Given the description of an element on the screen output the (x, y) to click on. 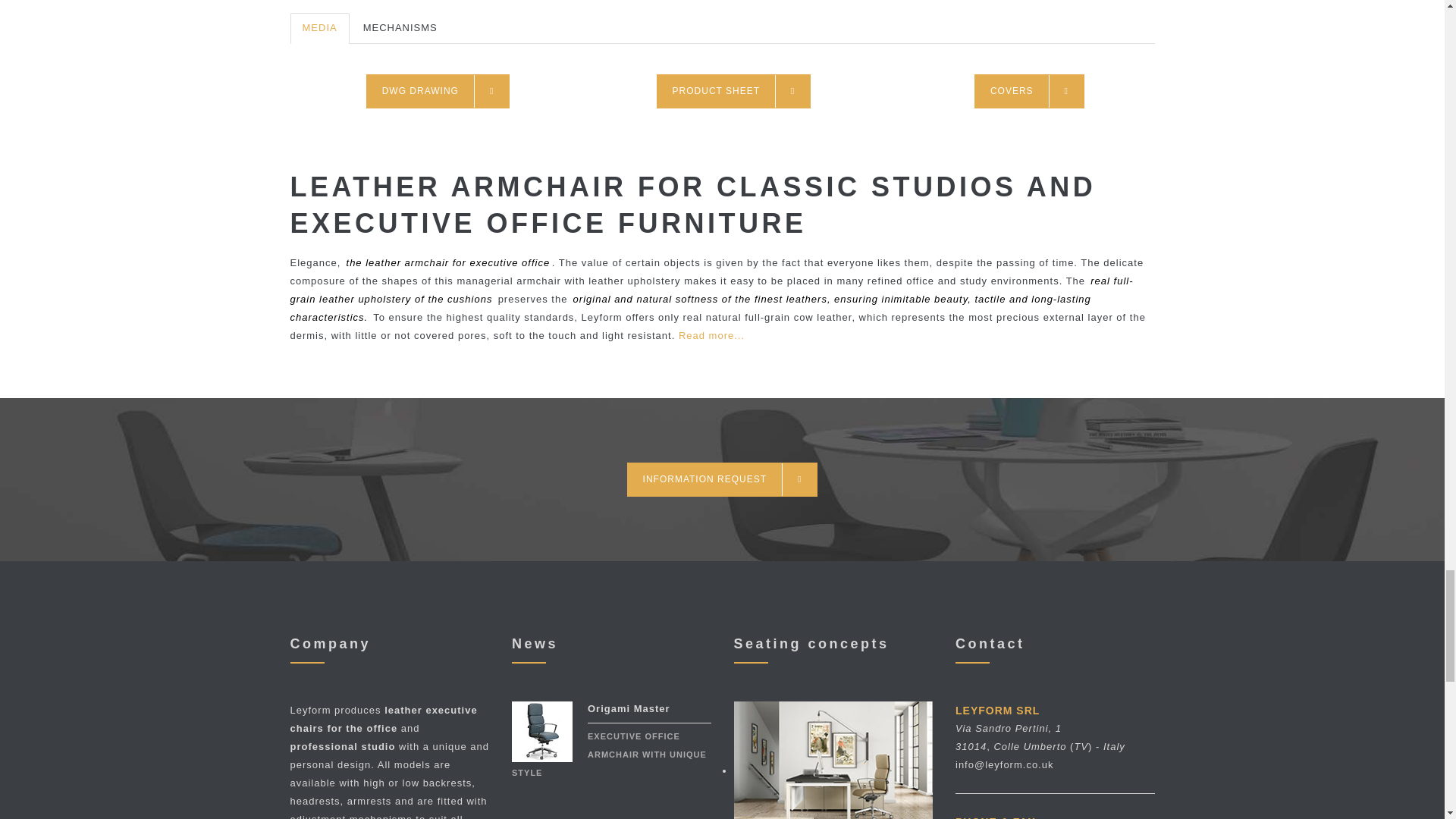
MECHANISMS (399, 28)
DWG DRAWING (438, 91)
PRODUCT SHEET (733, 91)
COVERS (1029, 91)
Read more... (711, 335)
MEDIA (319, 28)
